Given the description of an element on the screen output the (x, y) to click on. 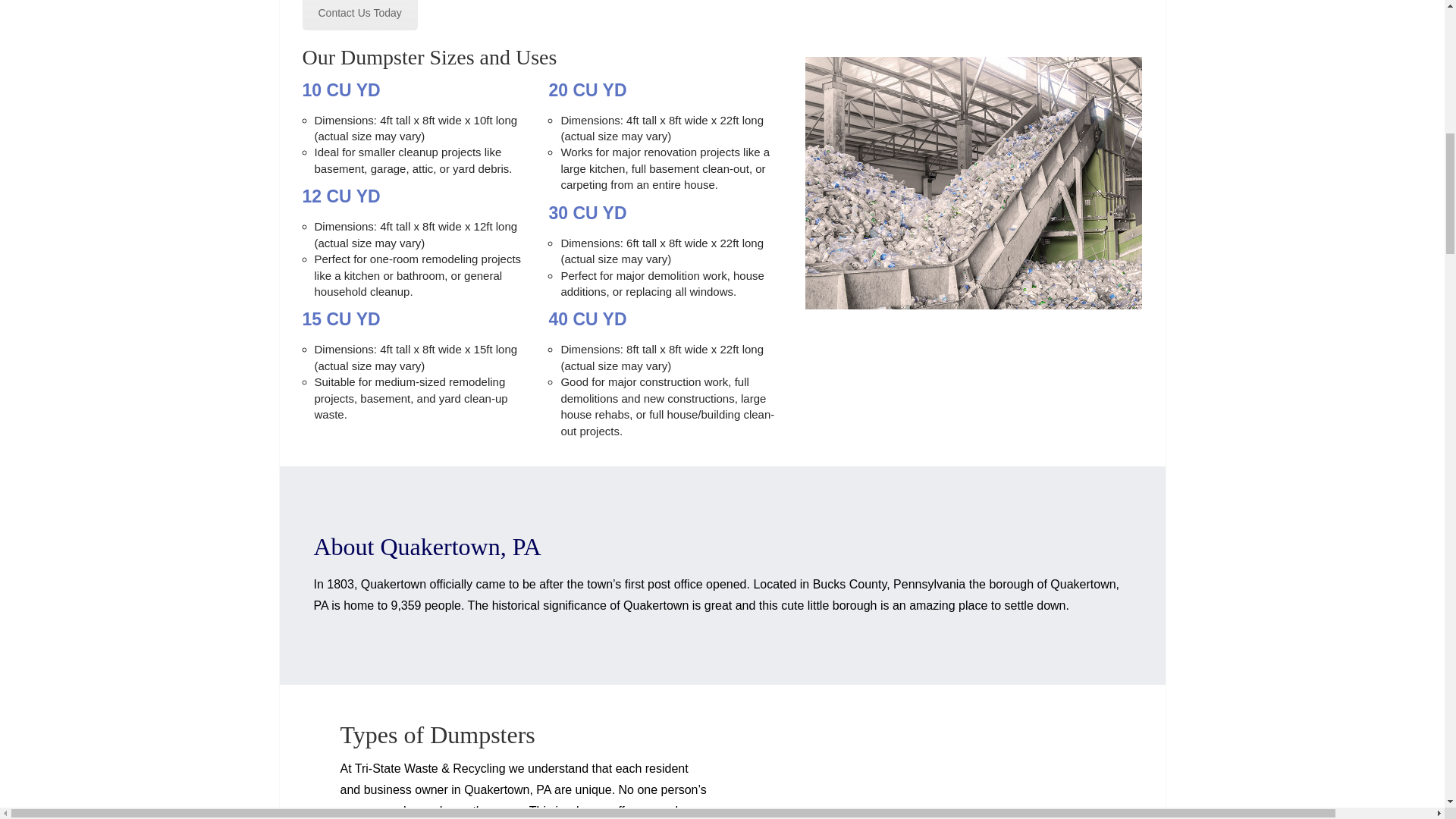
Contact (358, 15)
Contact Us Today (358, 15)
